Given the description of an element on the screen output the (x, y) to click on. 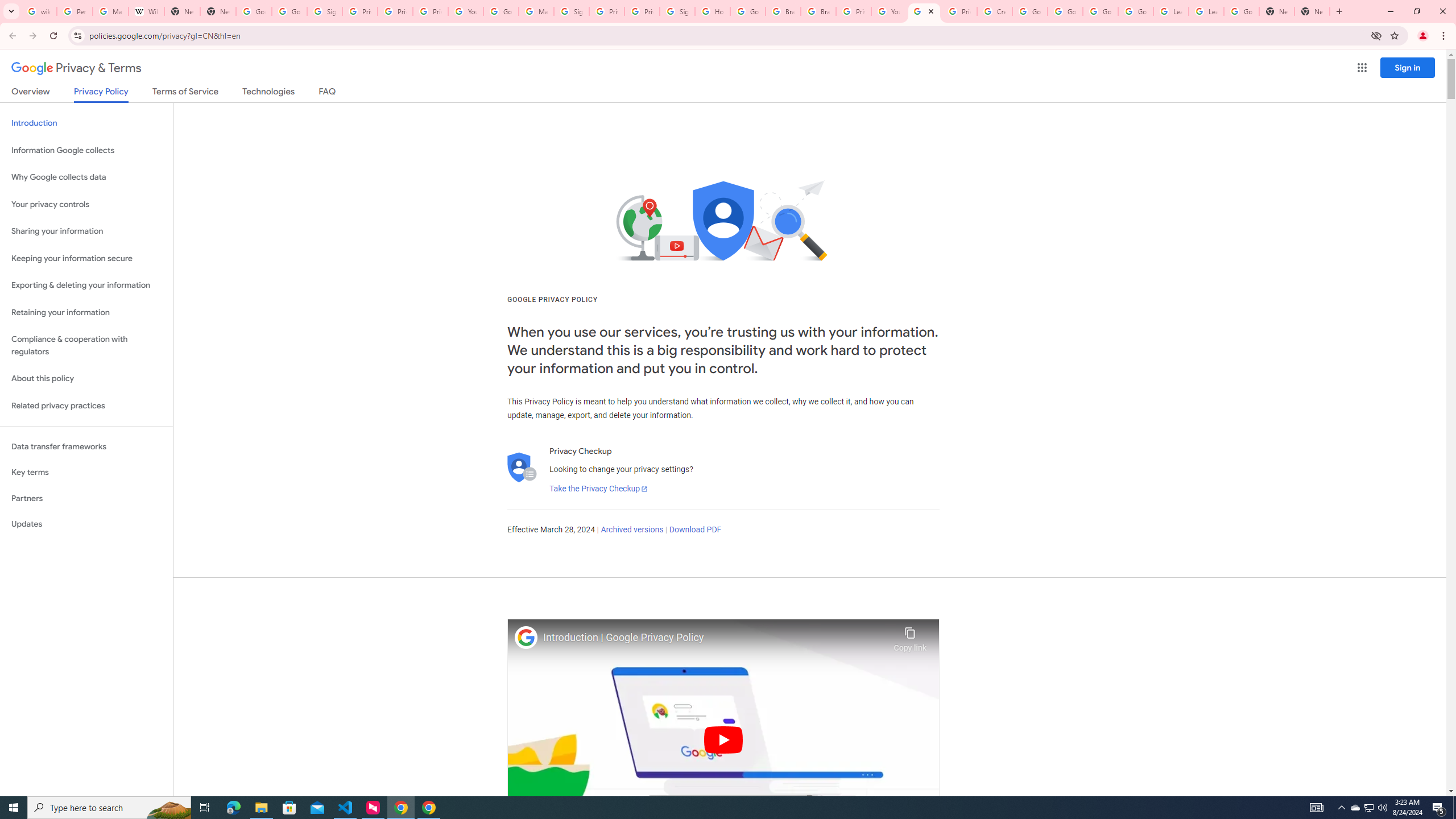
Related privacy practices (86, 405)
Compliance & cooperation with regulators (86, 345)
Key terms (86, 472)
Keeping your information secure (86, 258)
New Tab (1276, 11)
New Tab (1312, 11)
Google Account Help (1099, 11)
